Given the description of an element on the screen output the (x, y) to click on. 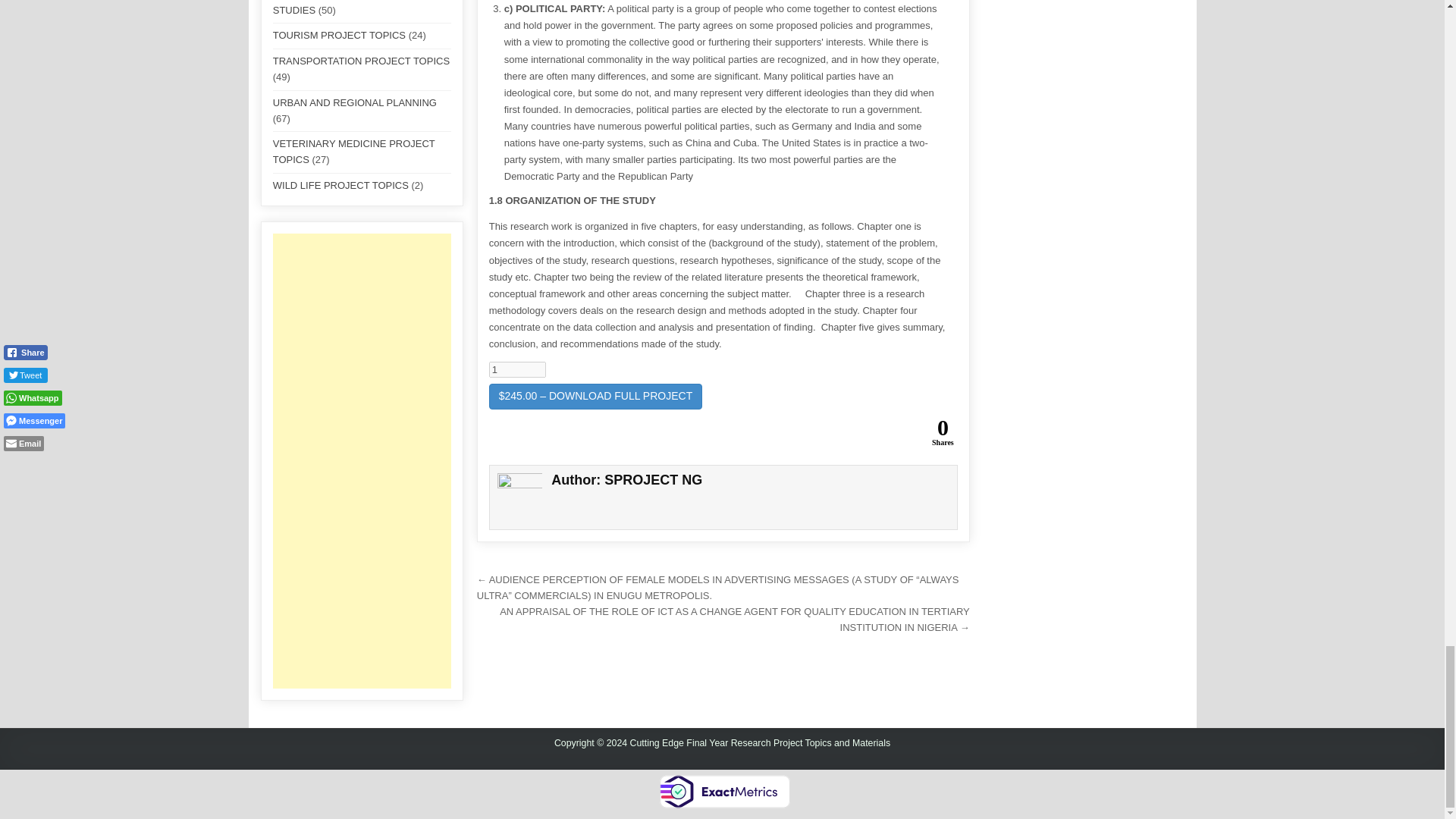
1 (517, 369)
